Given the description of an element on the screen output the (x, y) to click on. 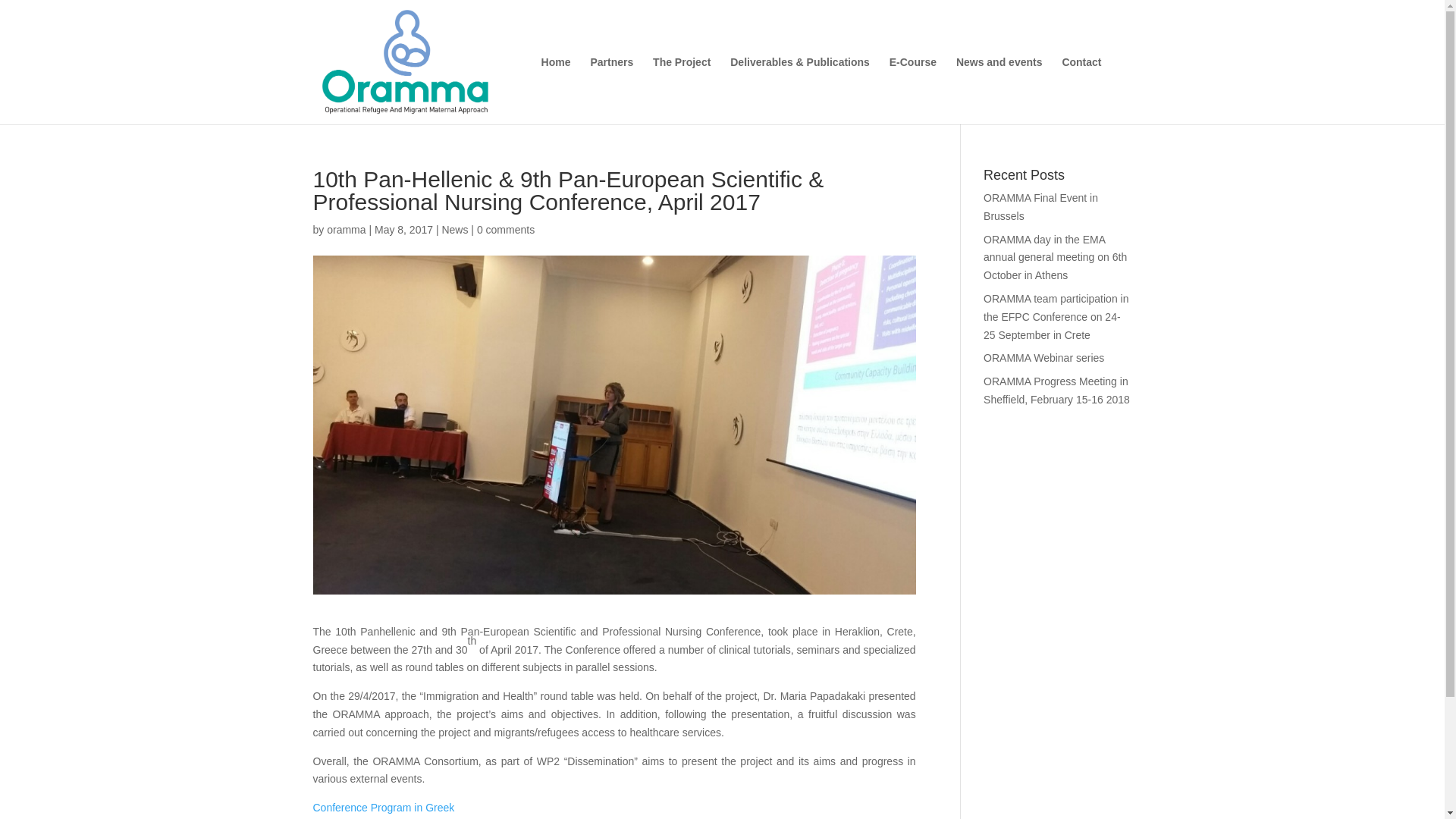
ORAMMA Progress Meeting in Sheffield, February 15-16 2018 (1056, 390)
0 comments (505, 229)
Conference Program in Greek (383, 807)
ORAMMA Final Event in Brussels (1040, 206)
ORAMMA Webinar series (1043, 357)
oramma (345, 229)
Posts by oramma (345, 229)
News (454, 229)
News and events (999, 90)
